Given the description of an element on the screen output the (x, y) to click on. 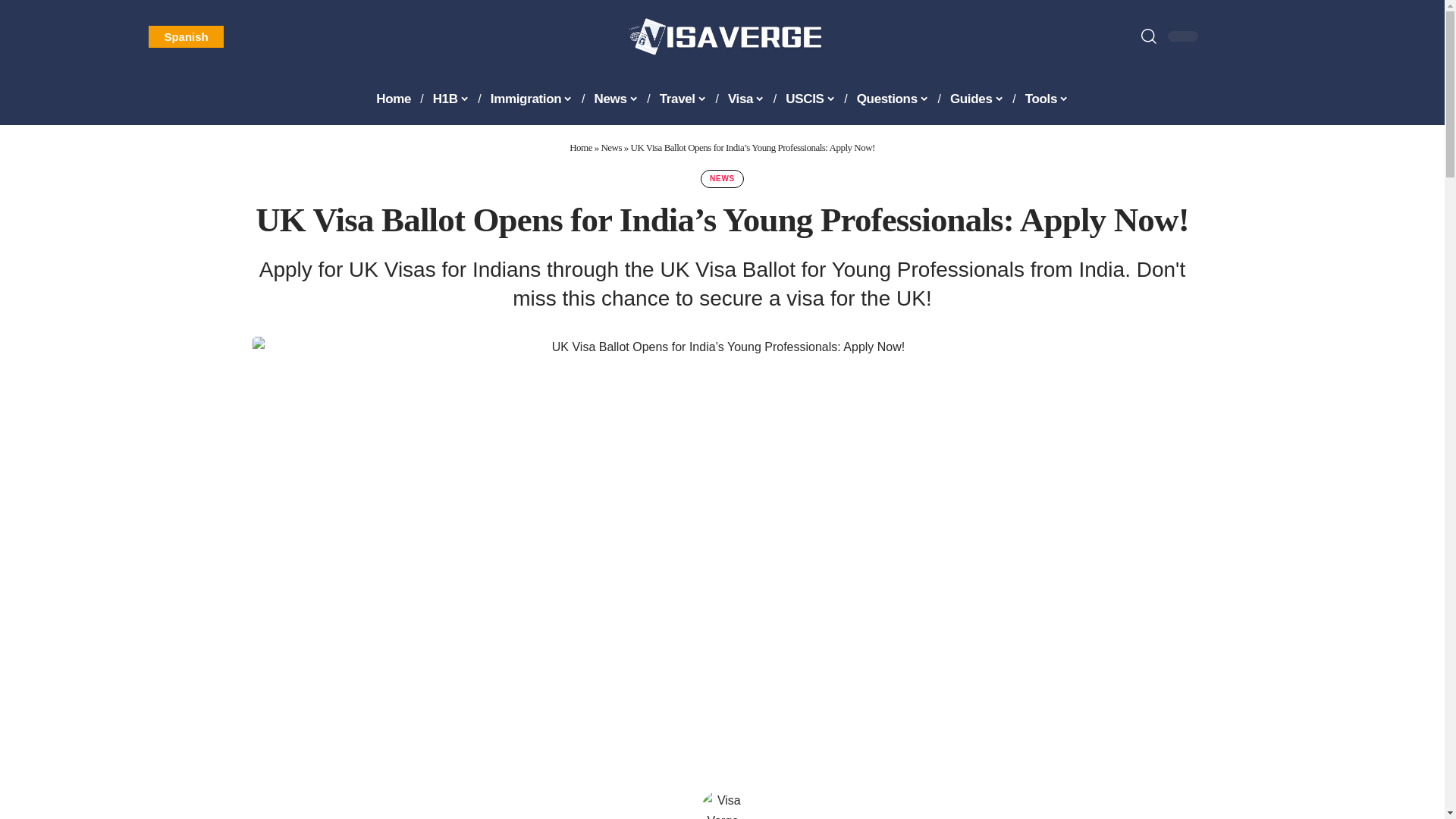
News (615, 99)
H1B (451, 99)
Home (393, 99)
Travel (683, 99)
Visa (746, 99)
Spanish (185, 36)
Immigration (530, 99)
